Given the description of an element on the screen output the (x, y) to click on. 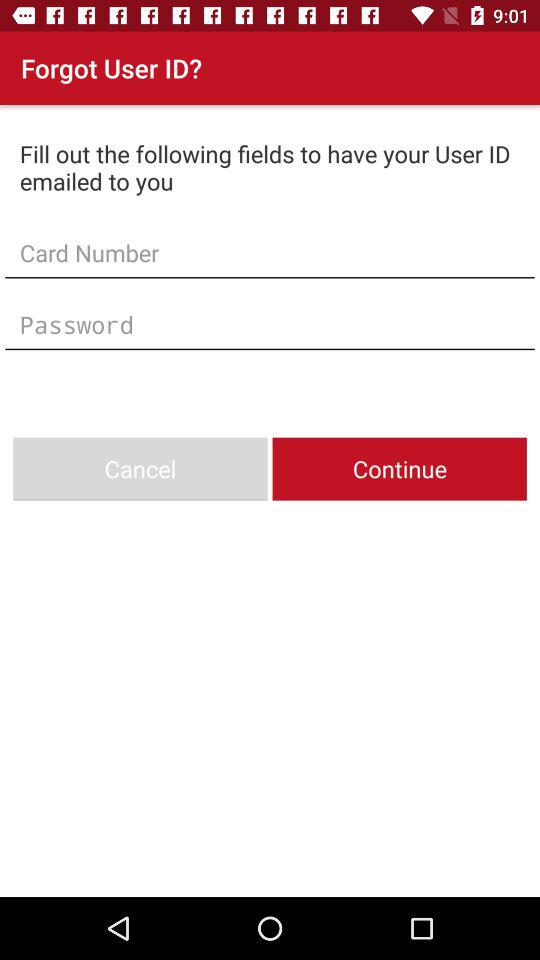
select pass (270, 324)
